Given the description of an element on the screen output the (x, y) to click on. 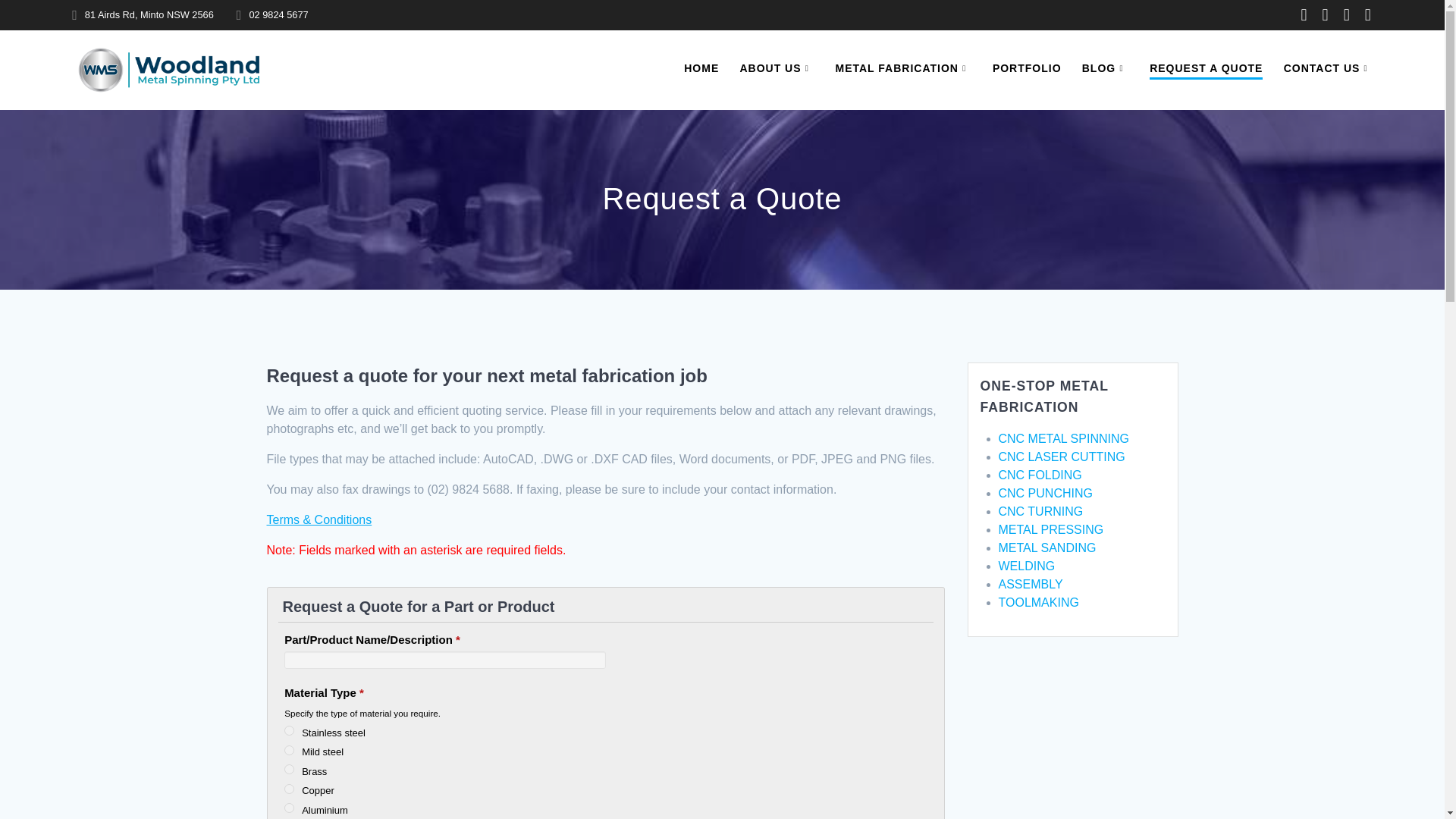
Copper (288, 788)
PORTFOLIO (1026, 68)
REQUEST A QUOTE (1206, 68)
Brass (288, 768)
HOME (701, 68)
CONTACT US (1329, 68)
Mild steel (288, 750)
ABOUT US (776, 68)
Aluminium (288, 808)
BLOG (1105, 68)
